Given the description of an element on the screen output the (x, y) to click on. 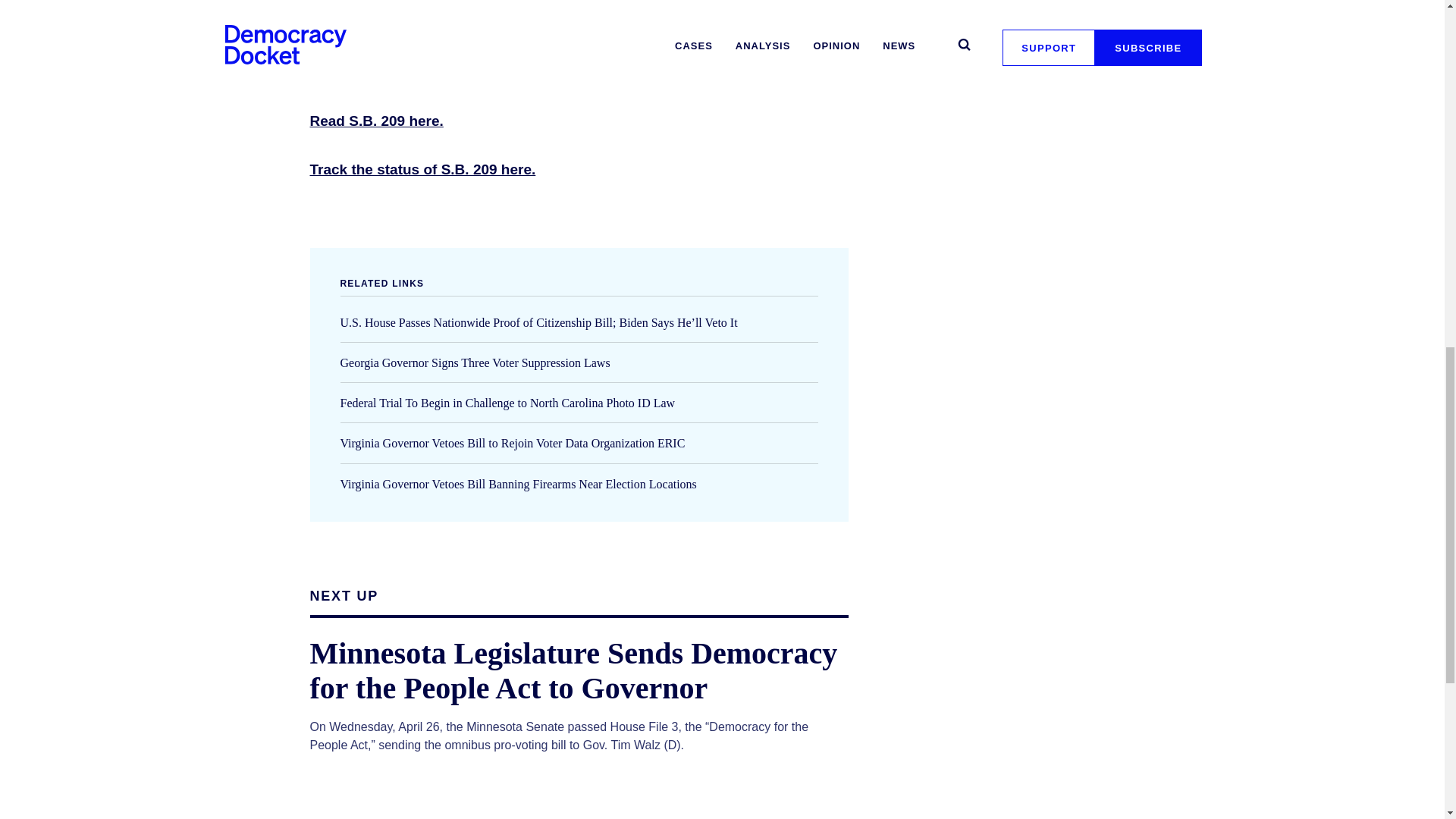
Georgia Governor Signs Three Voter Suppression Laws (474, 362)
Read S.B. 209 here. (375, 120)
amended (555, 23)
Track the status of S.B. 209 here. (421, 169)
